Given the description of an element on the screen output the (x, y) to click on. 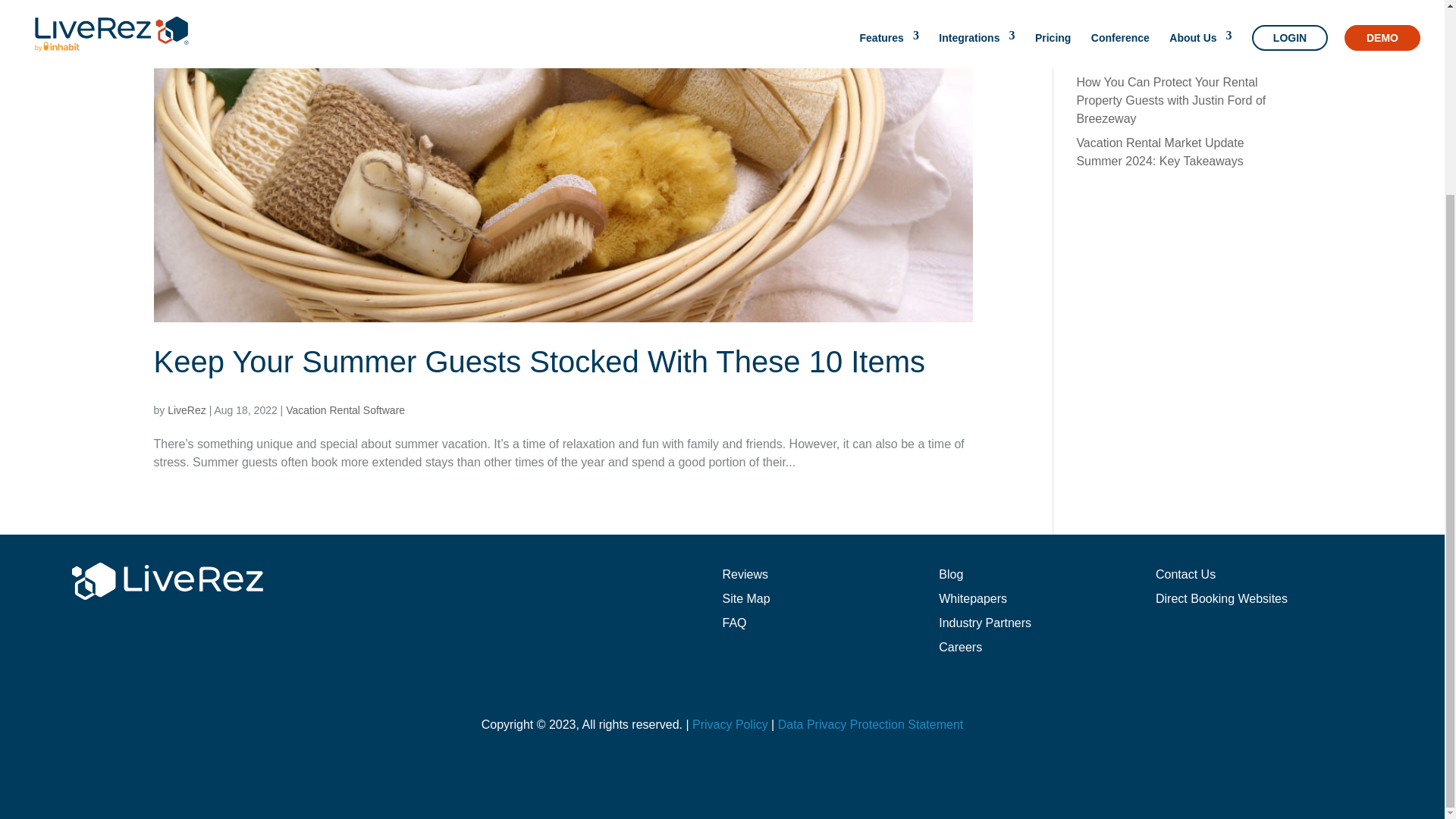
Reviews (744, 574)
Careers (960, 646)
Blog (950, 574)
Posts by LiveRez (186, 410)
Privacy Policy (730, 724)
Direct Booking Websites (1221, 598)
Data Privacy Protection Statement (870, 724)
Industry Partners (984, 622)
Whitepapers (973, 598)
Contact Us (1185, 574)
